Given the description of an element on the screen output the (x, y) to click on. 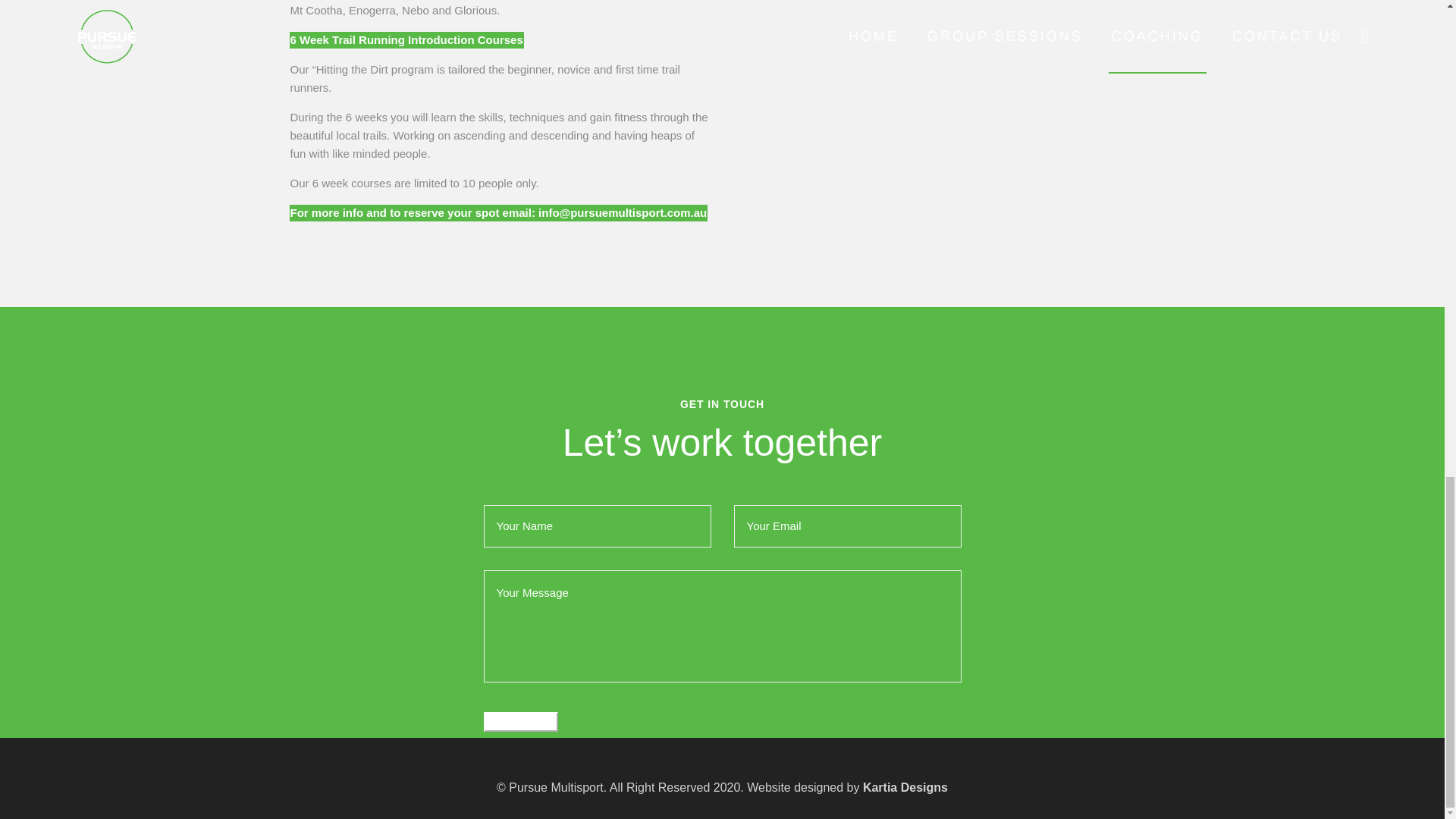
Kartia Designs (905, 786)
Contact Us (520, 721)
Contact Us (520, 721)
